Given the description of an element on the screen output the (x, y) to click on. 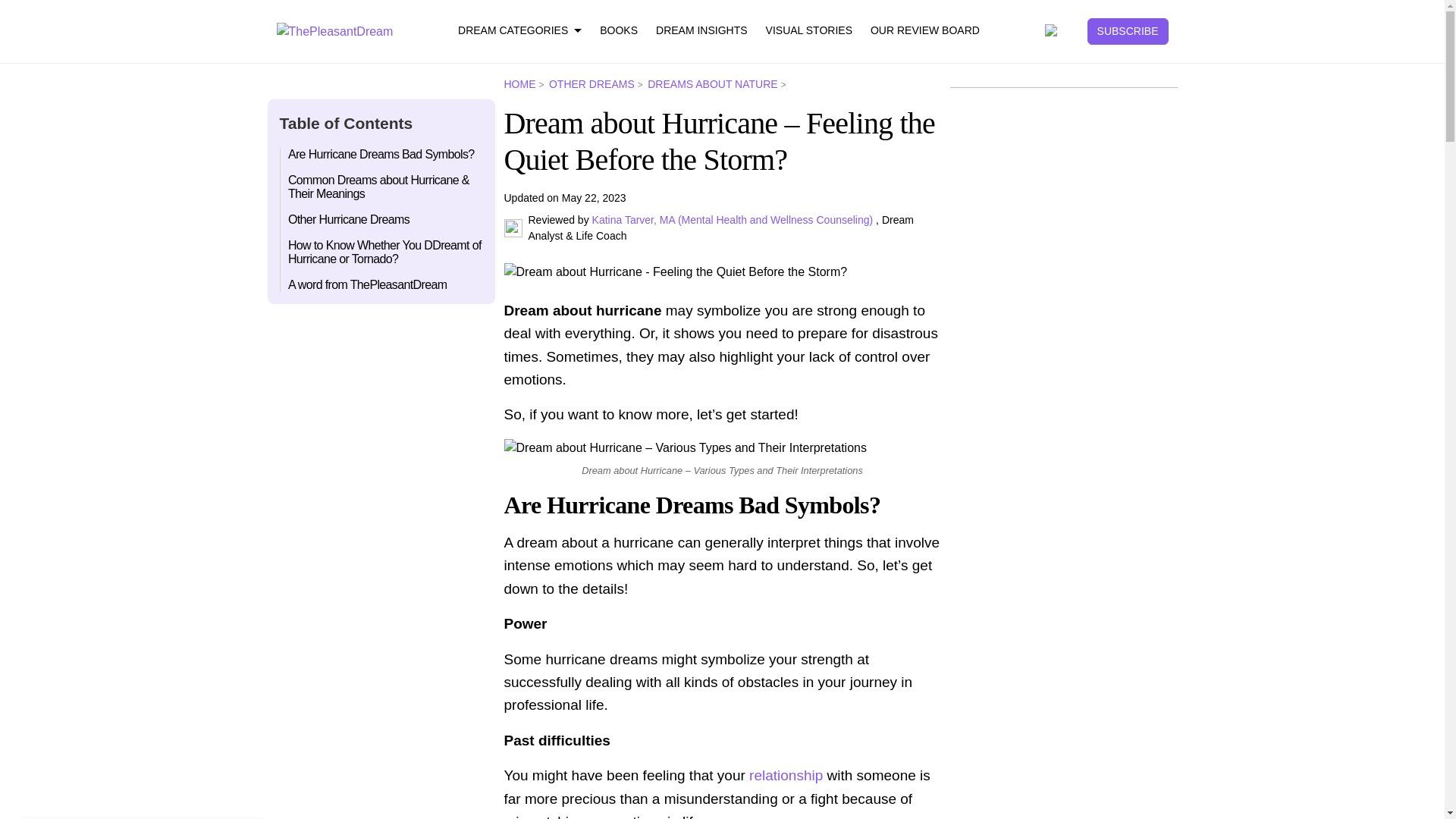
A word from ThePleasantDream (382, 281)
OUR REVIEW BOARD (924, 31)
DREAM INSIGHTS (702, 31)
How to Know Whether You DDreamt of Hurricane or Tornado? (382, 251)
ThePleasantDream (334, 30)
BOOKS (618, 31)
HOME (523, 83)
Other Hurricane Dreams (382, 218)
VISUAL STORIES (808, 31)
DREAM CATEGORIES (519, 31)
SUBSCRIBE (1128, 31)
Are Hurricane Dreams Bad Symbols? (382, 157)
